Given the description of an element on the screen output the (x, y) to click on. 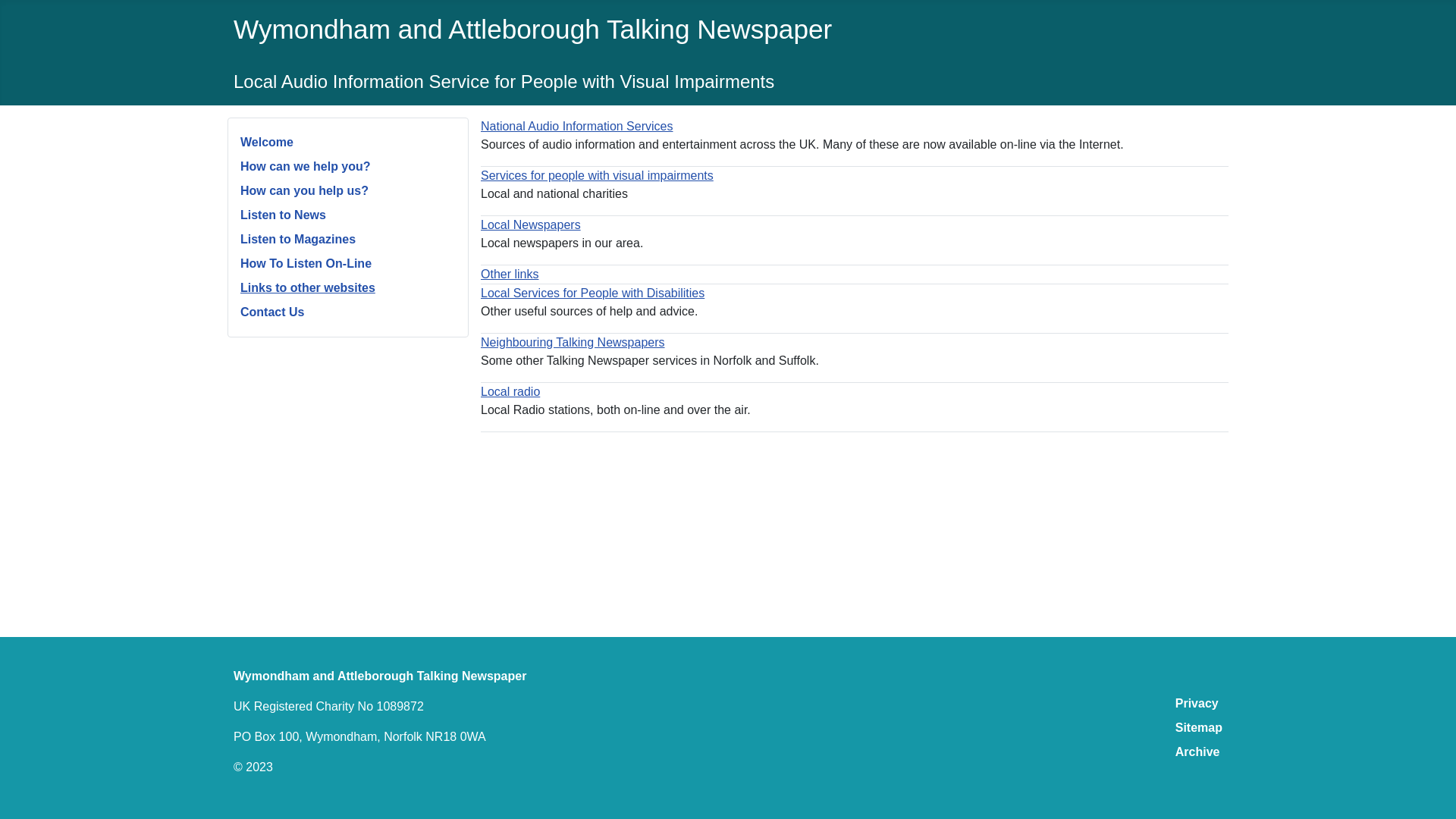
Archive (1197, 751)
How can we help you? (305, 165)
Other links (509, 273)
Local Newspapers (530, 224)
Services for people with visual impairments (596, 174)
Wymondham and Attleborough Talking Newspaper (531, 29)
How To Listen On-Line (305, 263)
Neighbouring Talking Newspapers (572, 341)
Links to other websites (307, 287)
Local Services for People with Disabilities (592, 292)
